Given the description of an element on the screen output the (x, y) to click on. 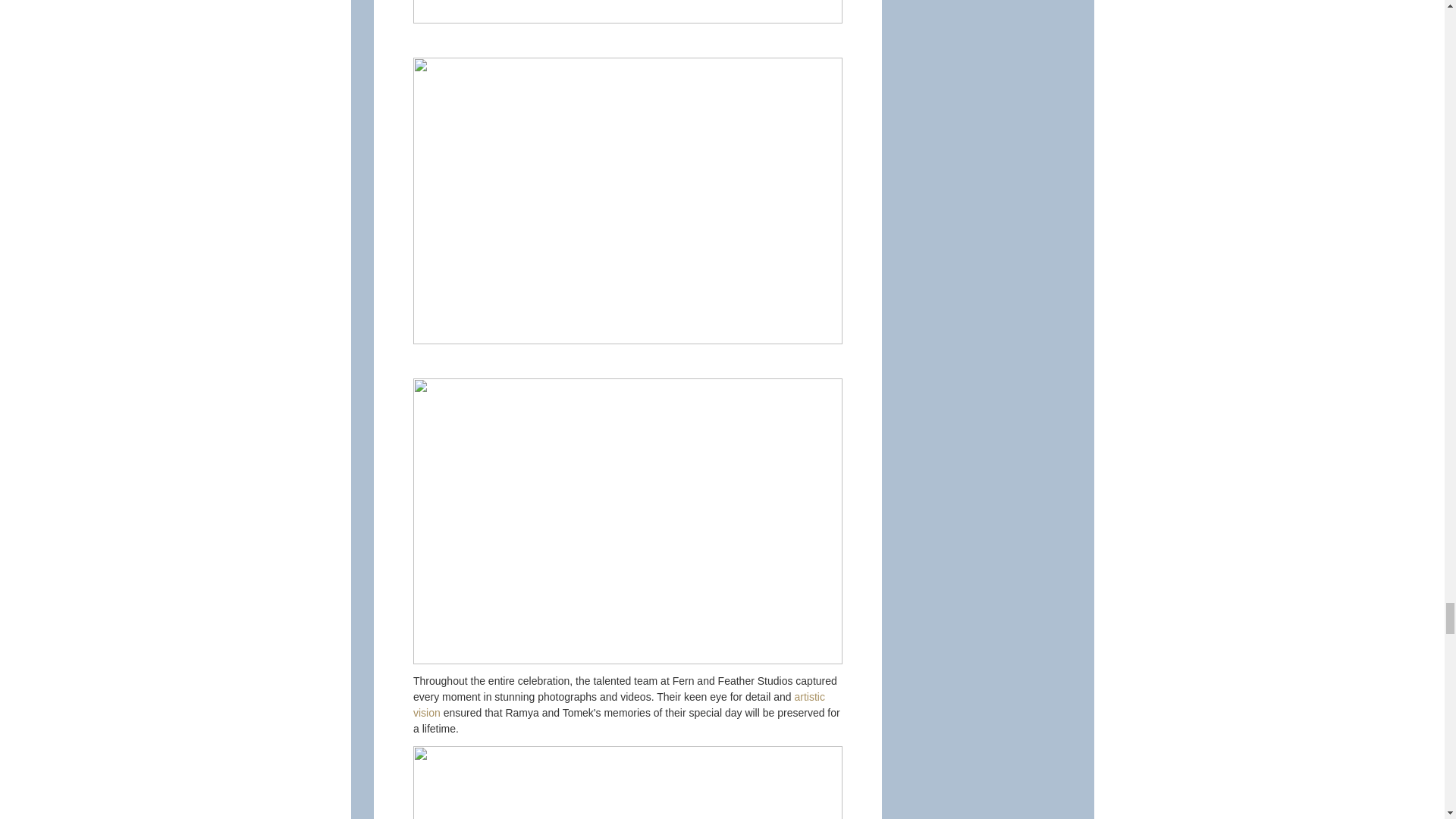
artistic vision (619, 705)
